Given the description of an element on the screen output the (x, y) to click on. 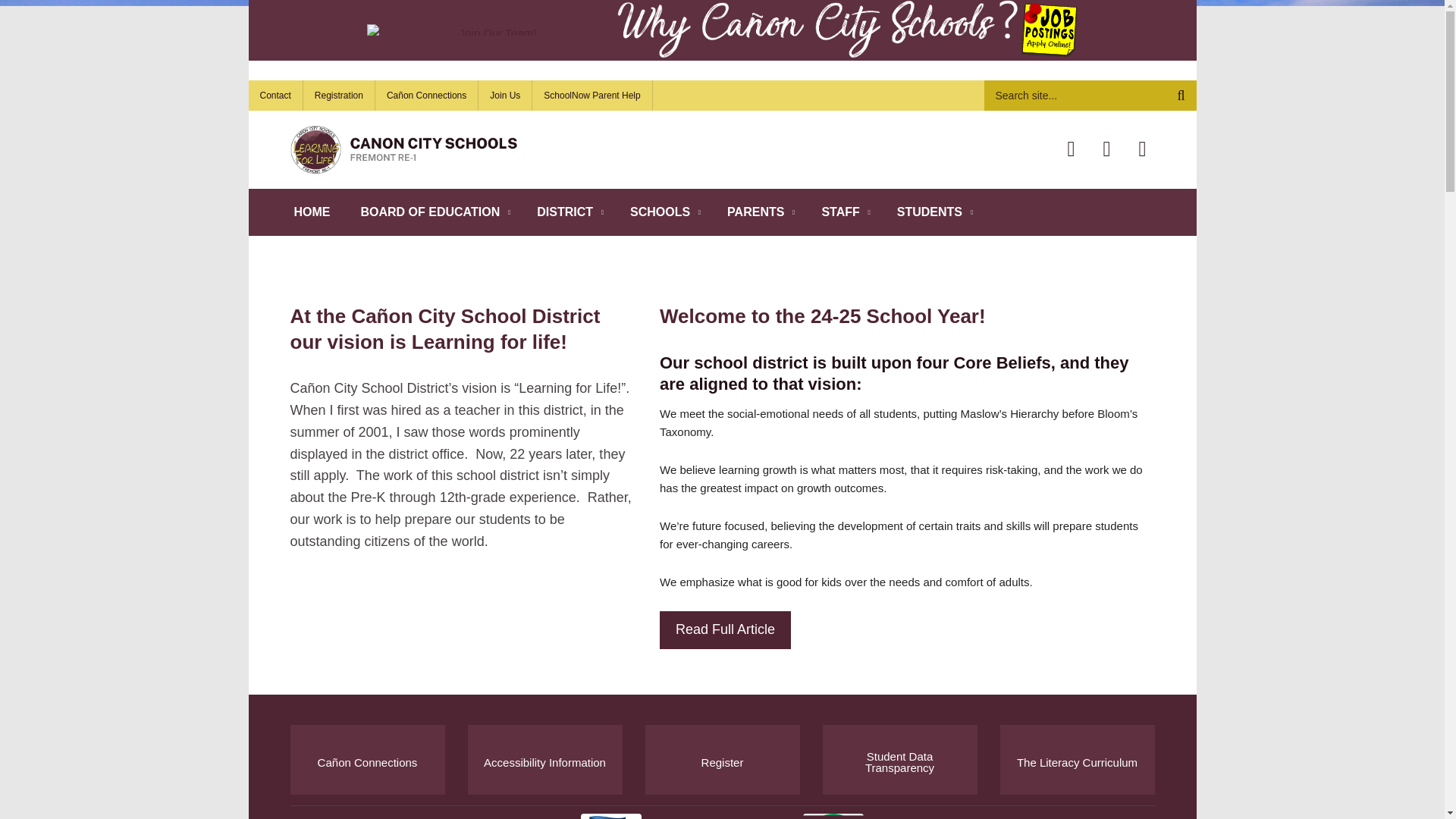
Contact (275, 95)
Registration (338, 95)
Search (1090, 95)
SchoolNow Parent Help (592, 95)
HOME (312, 212)
Read Full Article (724, 629)
Join Us (505, 95)
DISTRICT (567, 212)
BOARD OF EDUCATION (434, 212)
